Given the description of an element on the screen output the (x, y) to click on. 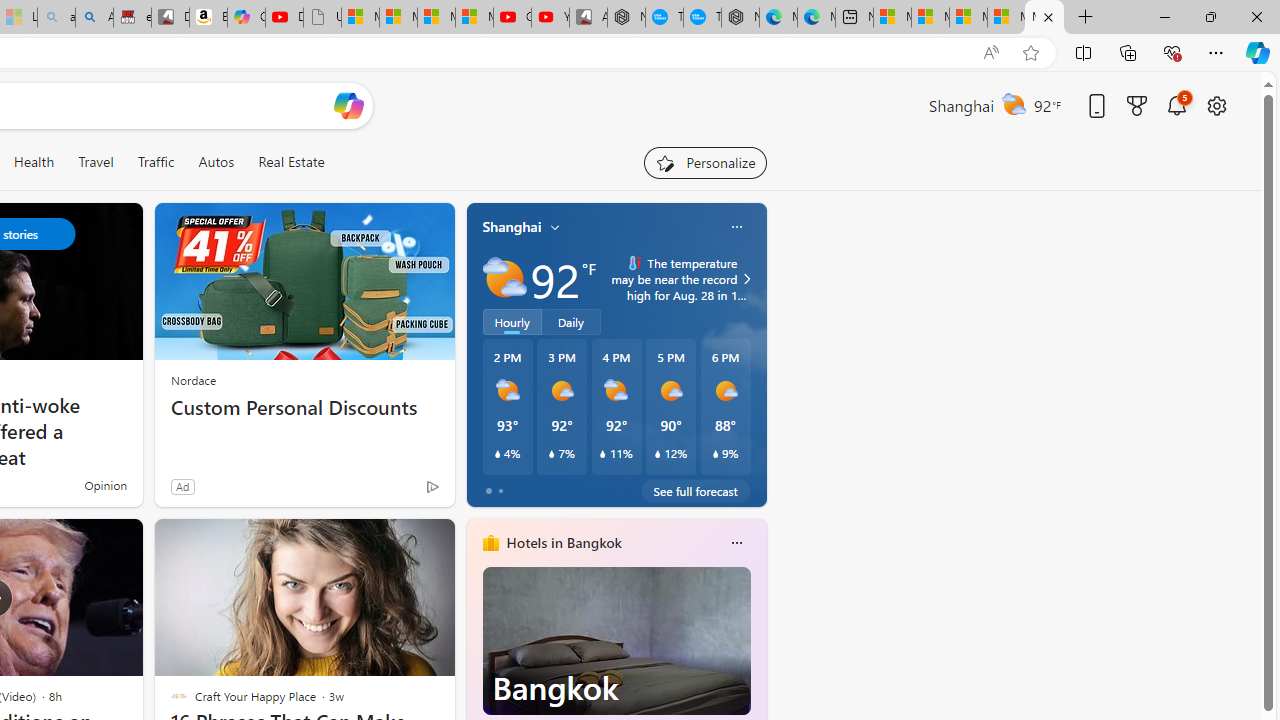
hotels-header-icon (490, 542)
Class: weather-arrow-glyph (746, 278)
All Cubot phones (587, 17)
Notifications (1176, 105)
Day 1: Arriving in Yemen (surreal to be here) - YouTube (284, 17)
Gloom - YouTube (512, 17)
Nordace - Nordace has arrived Hong Kong (740, 17)
Custom Personal Discounts (304, 407)
